Given the description of an element on the screen output the (x, y) to click on. 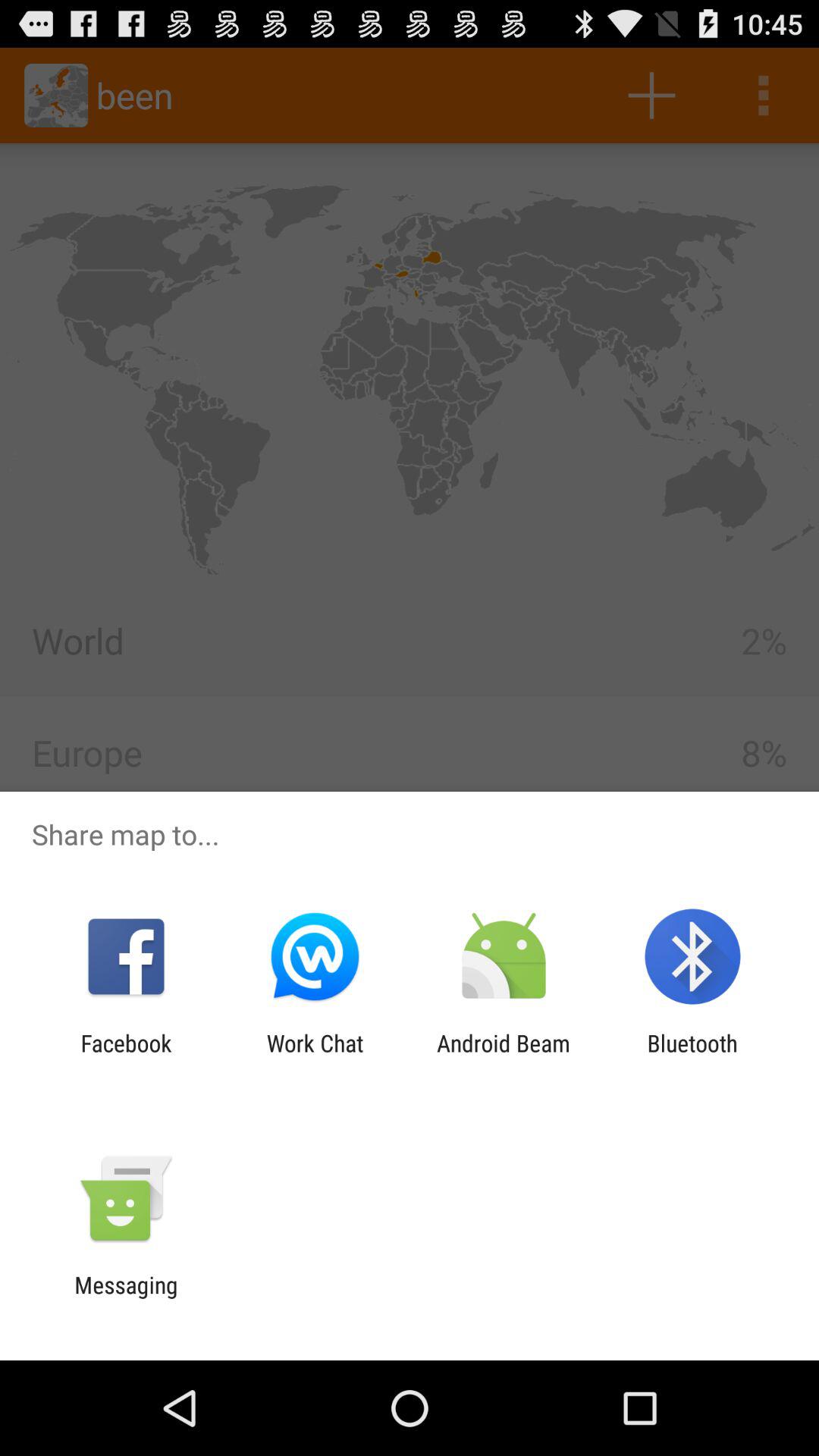
turn off app next to the work chat (503, 1056)
